Given the description of an element on the screen output the (x, y) to click on. 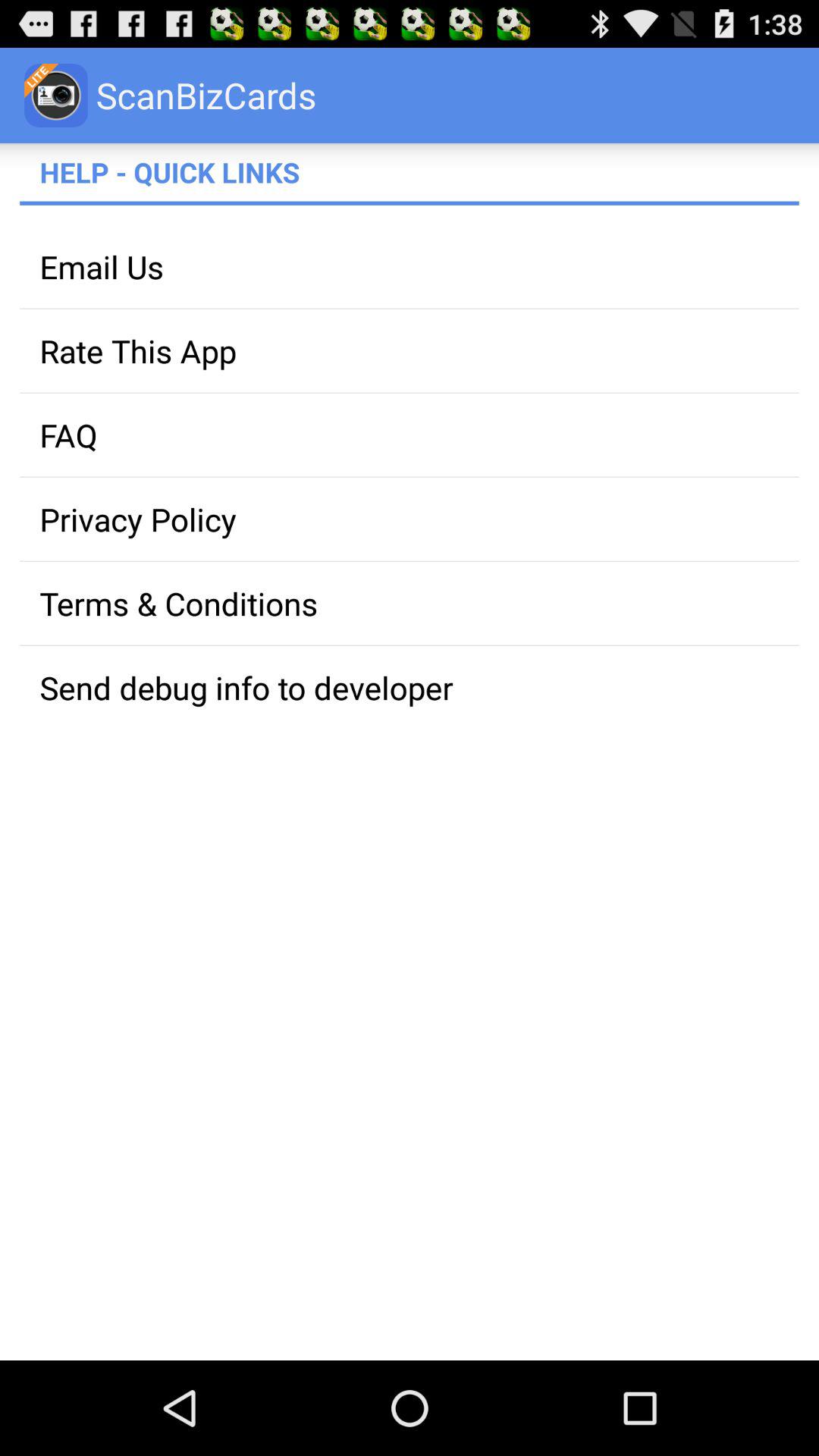
launch terms & conditions icon (409, 603)
